Given the description of an element on the screen output the (x, y) to click on. 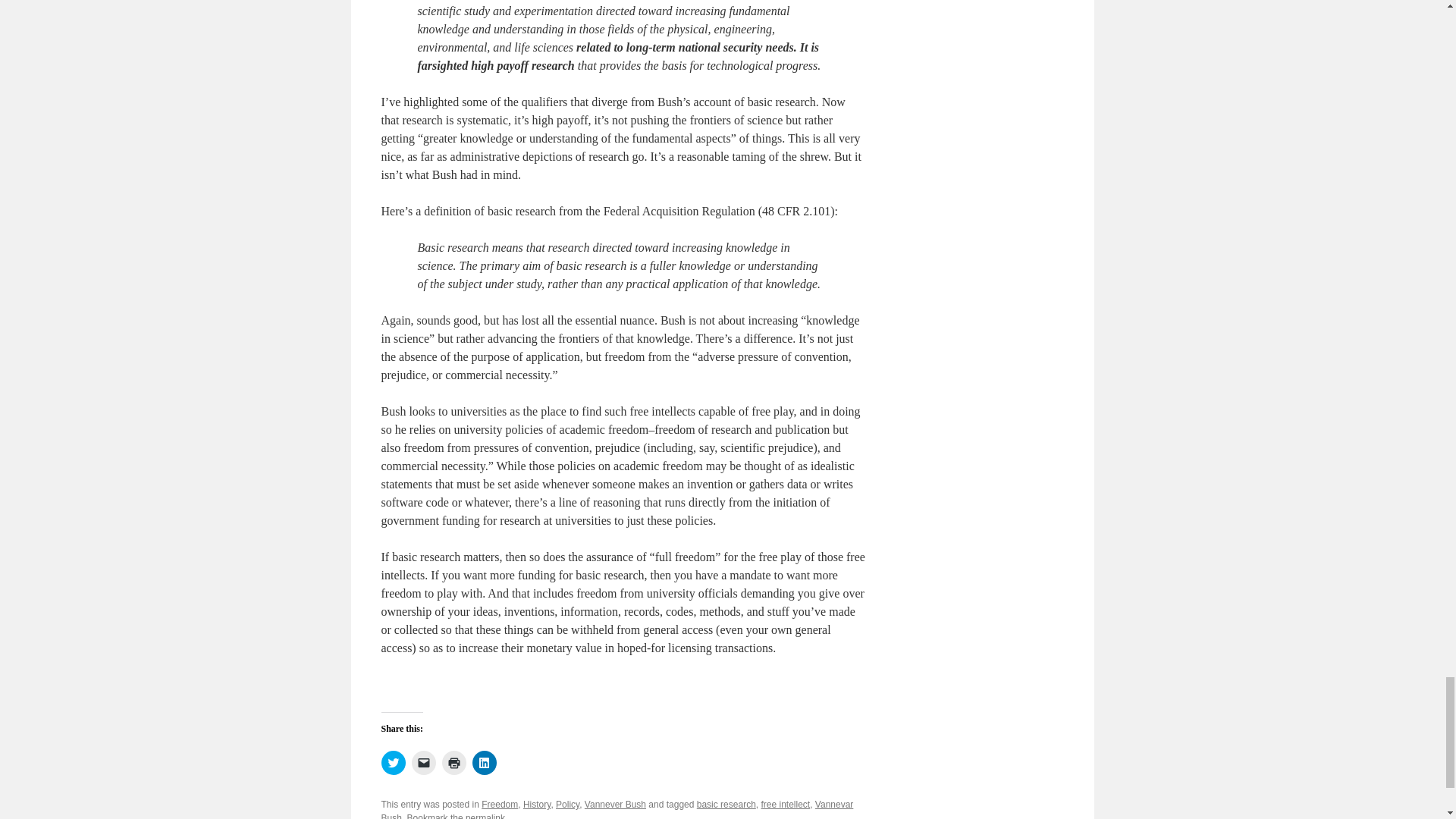
Policy (567, 804)
Vannevar Bush (616, 809)
permalink (485, 816)
Vannever Bush (615, 804)
Click to share on Twitter (392, 762)
basic research (726, 804)
Freedom (499, 804)
Click to print (453, 762)
free intellect (784, 804)
Click to share on LinkedIn (483, 762)
Click to email a link to a friend (422, 762)
History (536, 804)
